Given the description of an element on the screen output the (x, y) to click on. 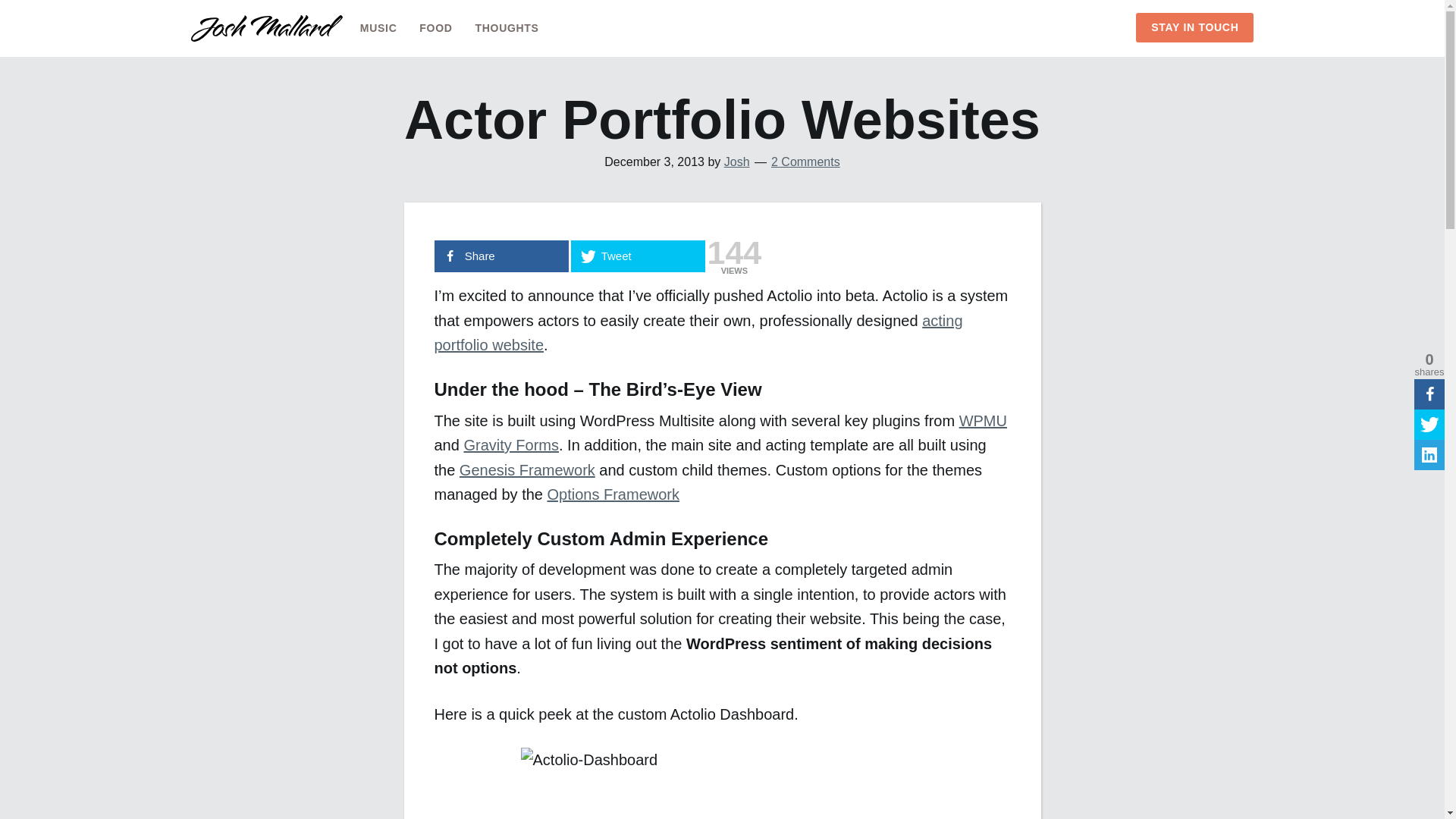
Tweet (637, 255)
Genesis Framework (527, 469)
THOUGHTS (507, 27)
STAY IN TOUCH (1194, 26)
2 Comments (805, 161)
Josh Mallard (266, 35)
Gravity Forms (511, 444)
Josh (736, 161)
WPMU (983, 420)
FOOD (435, 27)
WPMU (983, 420)
Gravity Forms (511, 444)
Options Framework (613, 494)
Actor Portfolio Websites (697, 332)
